Given the description of an element on the screen output the (x, y) to click on. 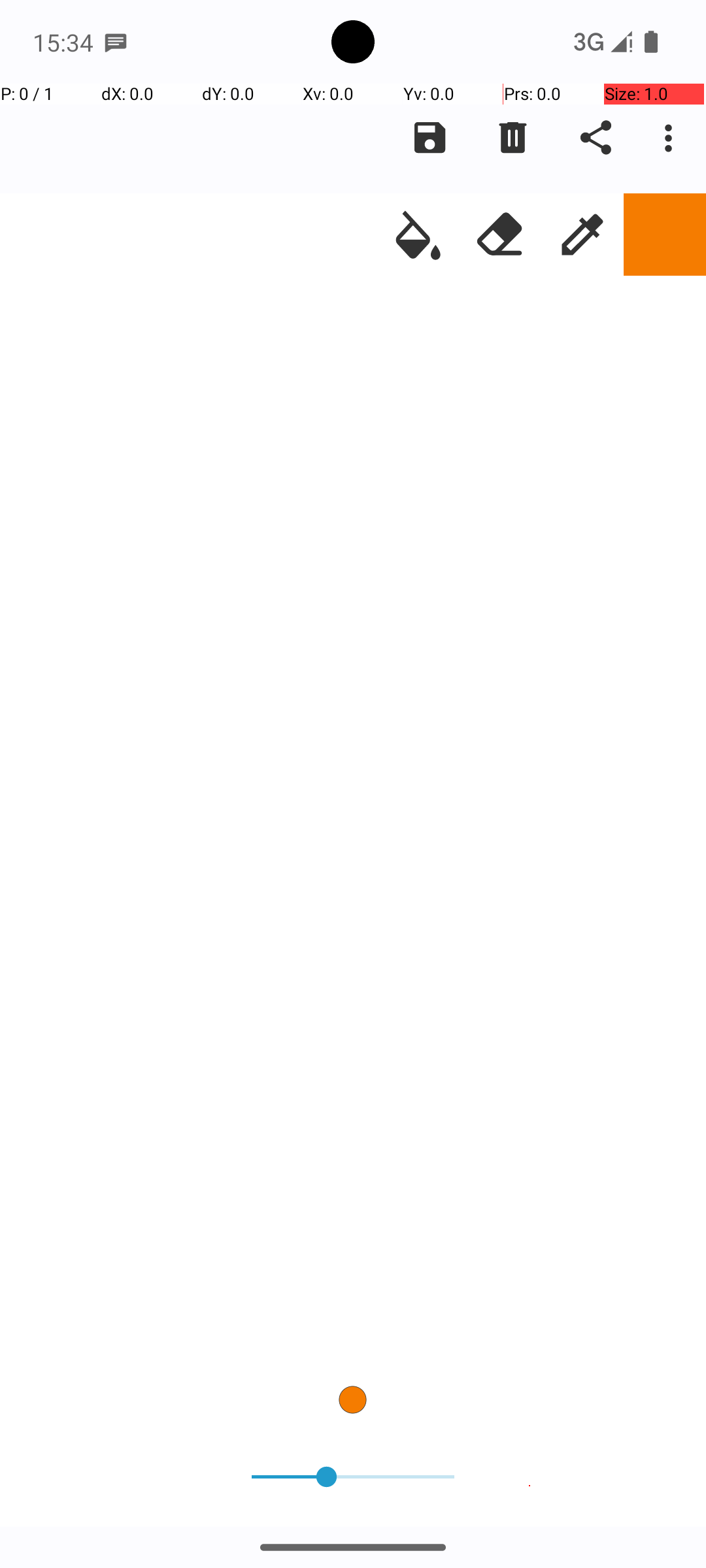
Clear Element type: android.widget.Button (512, 137)
Bucket fill Element type: android.widget.ImageView (417, 234)
Eraser Element type: android.widget.ImageView (499, 234)
Eyedropper Element type: android.widget.ImageView (582, 234)
Change color Element type: android.widget.ImageView (664, 234)
